Given the description of an element on the screen output the (x, y) to click on. 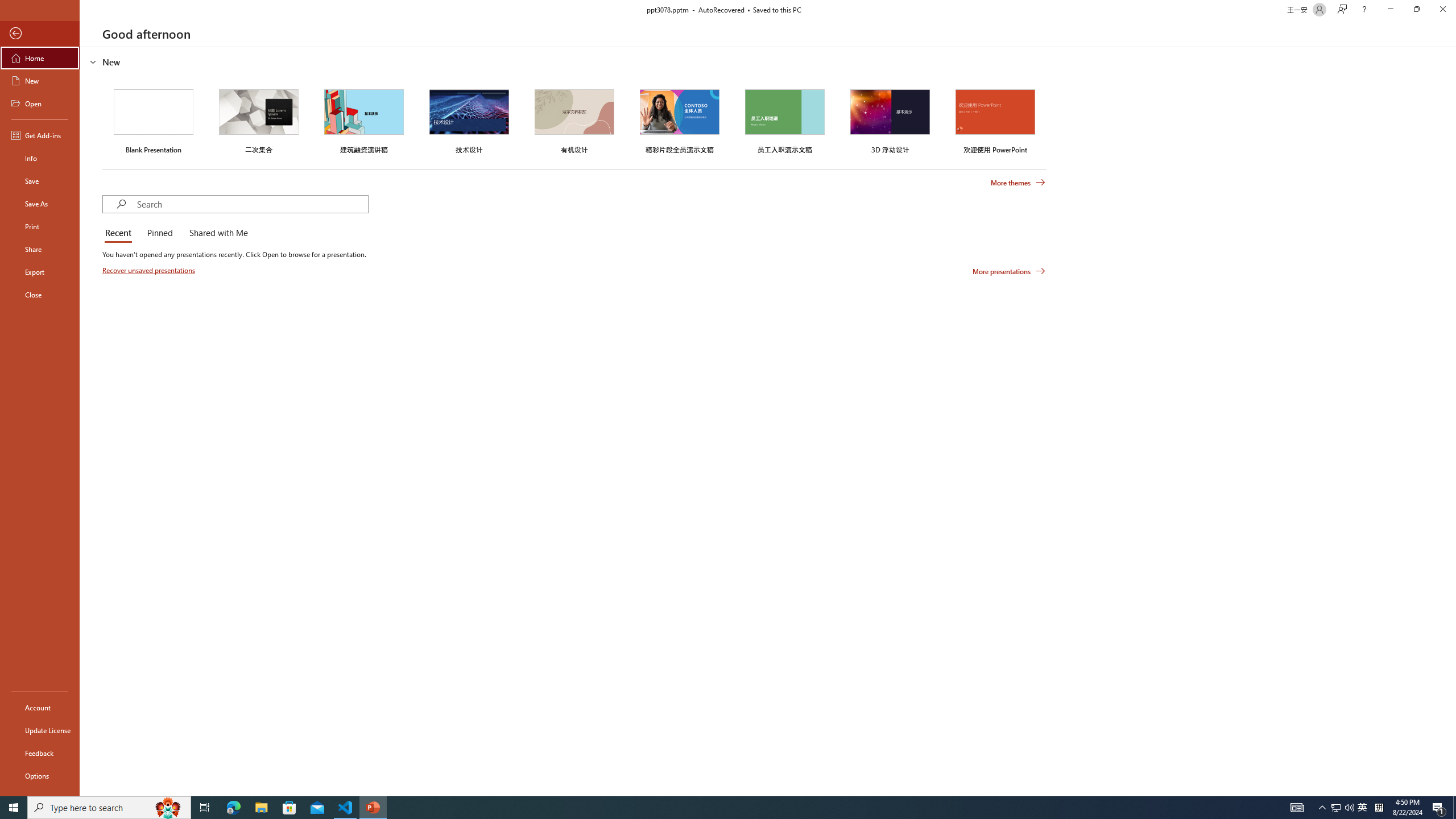
Info (40, 157)
Hide or show region (92, 61)
Get Add-ins (40, 134)
Back (40, 33)
Account (40, 707)
Pinned (159, 233)
